Given the description of an element on the screen output the (x, y) to click on. 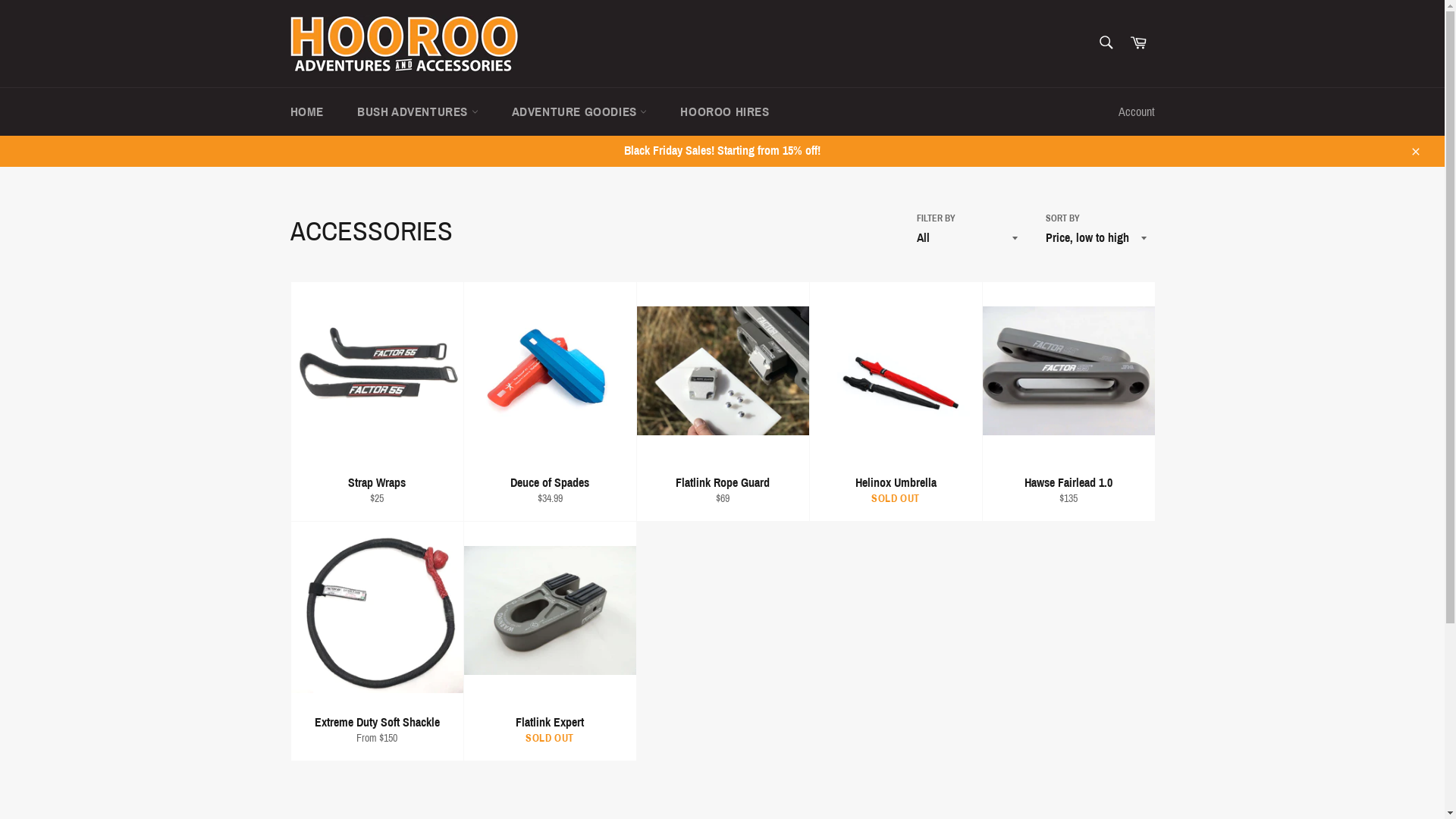
Extreme Duty Soft Shackle
From $150 Element type: text (375, 641)
Account Element type: text (1135, 111)
Close Element type: text (1414, 150)
Deuce of Spades
Regular price
$34.99 Element type: text (548, 401)
Search Element type: text (1105, 42)
Flatlink Rope Guard
Regular price
$69 Element type: text (721, 401)
BUSH ADVENTURES Element type: text (417, 111)
Cart Element type: text (1138, 43)
ADVENTURE GOODIES Element type: text (579, 111)
HOOROO HIRES Element type: text (724, 111)
Hawse Fairlead 1.0
Regular price
$135 Element type: text (1067, 401)
Flatlink Expert
SOLD OUT Element type: text (548, 641)
HOME Element type: text (306, 111)
Strap Wraps
Regular price
$25 Element type: text (375, 401)
Helinox Umbrella
SOLD OUT Element type: text (894, 401)
